Given the description of an element on the screen output the (x, y) to click on. 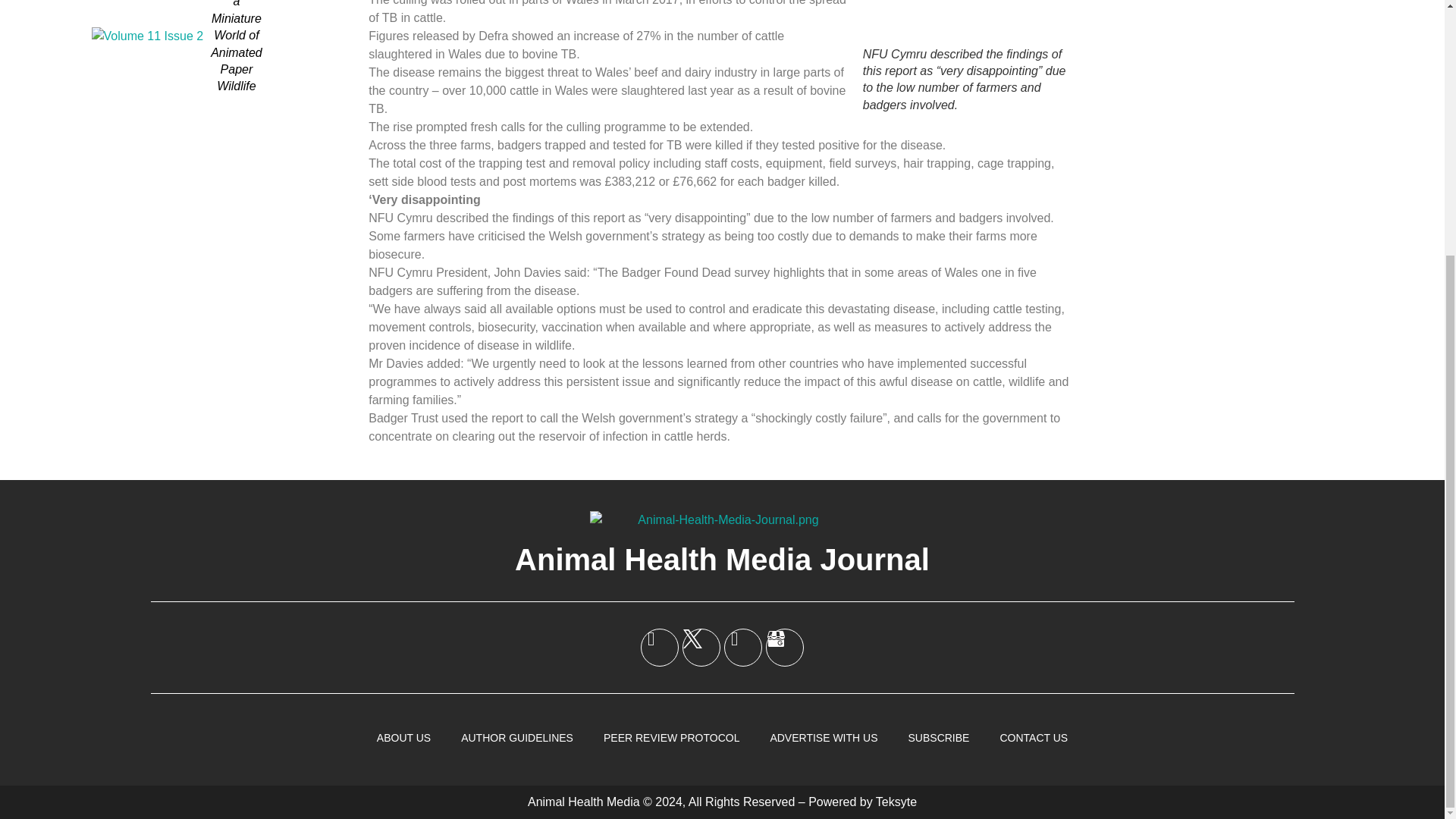
Animal-Health-Media-Journal.png (722, 520)
Volume 11 Issue 2 (146, 36)
Web design services (896, 801)
